Given the description of an element on the screen output the (x, y) to click on. 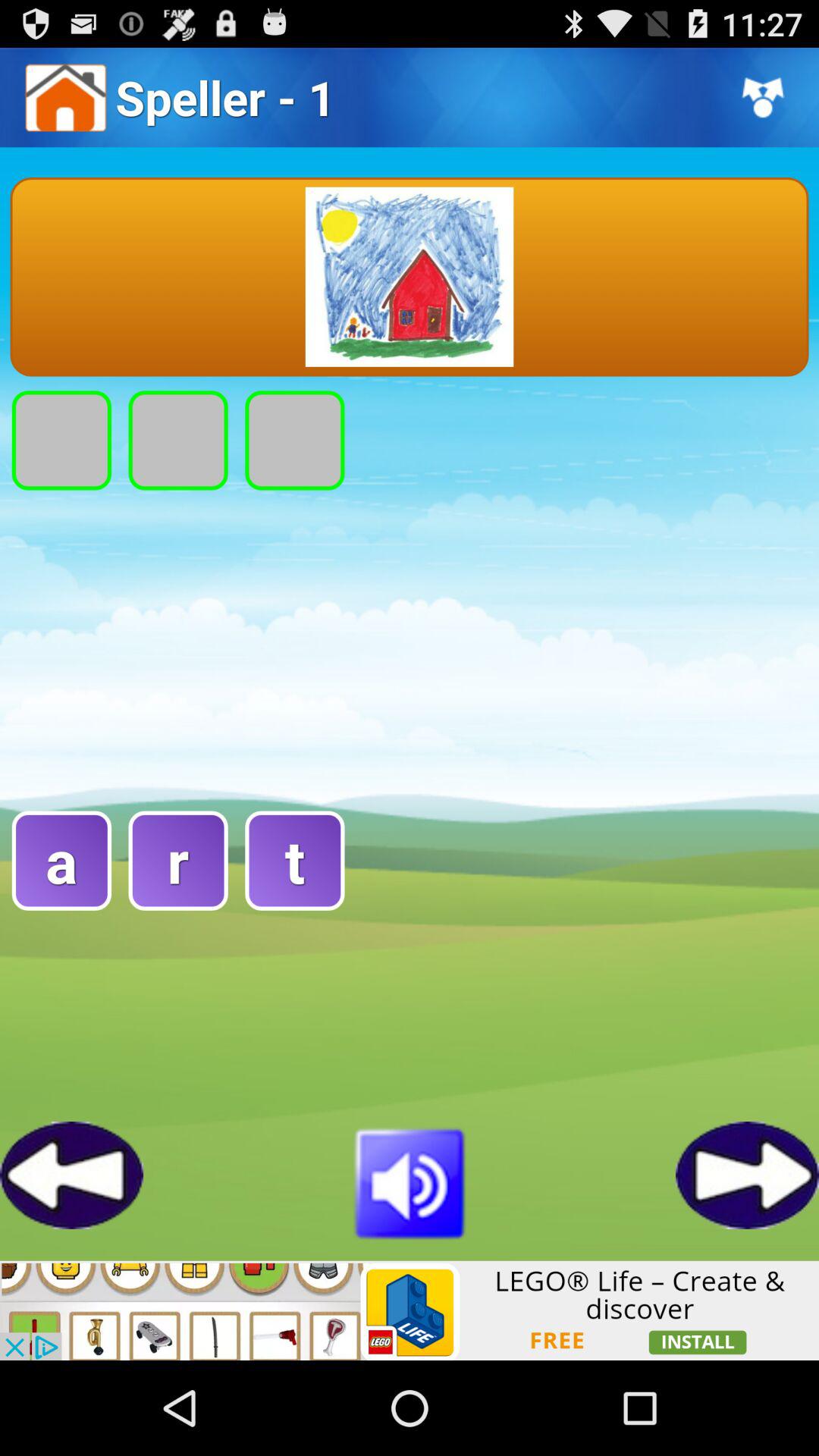
sound off (409, 1181)
